Given the description of an element on the screen output the (x, y) to click on. 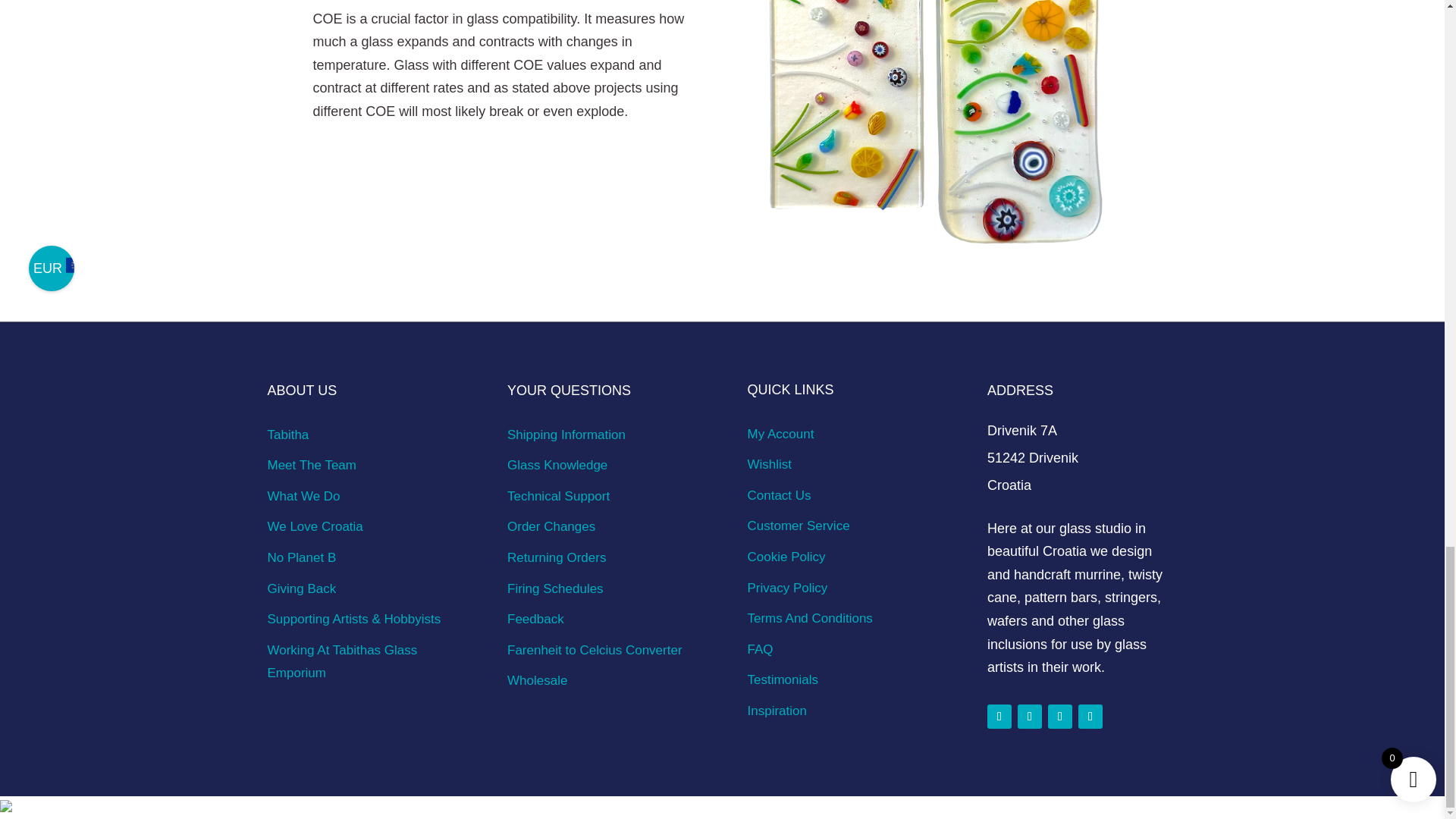
Follow on Instagram (1029, 716)
MIXING DIFFERENT COE (937, 130)
Follow on Pinterest (1059, 716)
Follow on Facebook (999, 716)
Follow on Youtube (1090, 716)
